Given the description of an element on the screen output the (x, y) to click on. 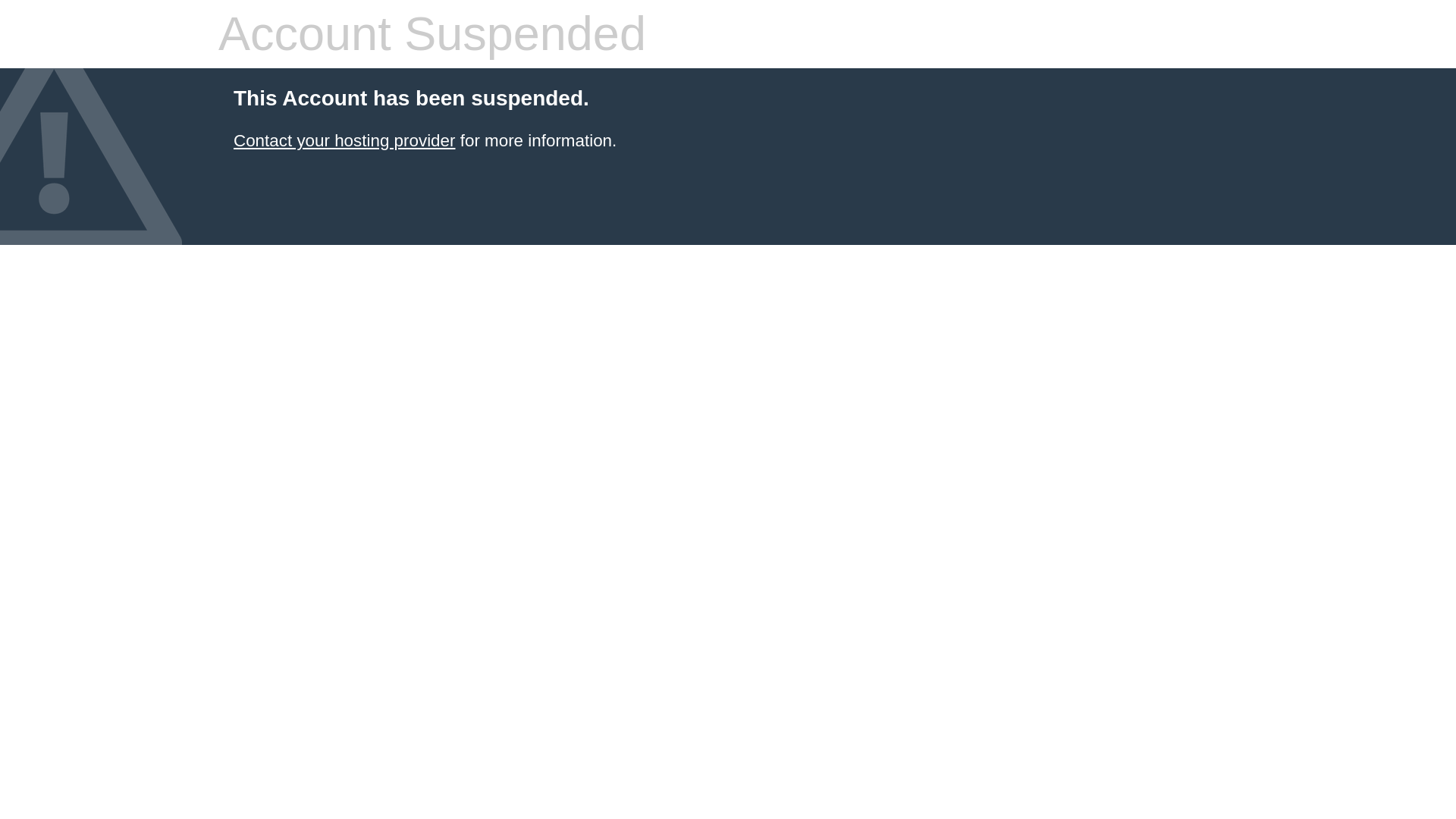
Contact your hosting provider (343, 140)
